Given the description of an element on the screen output the (x, y) to click on. 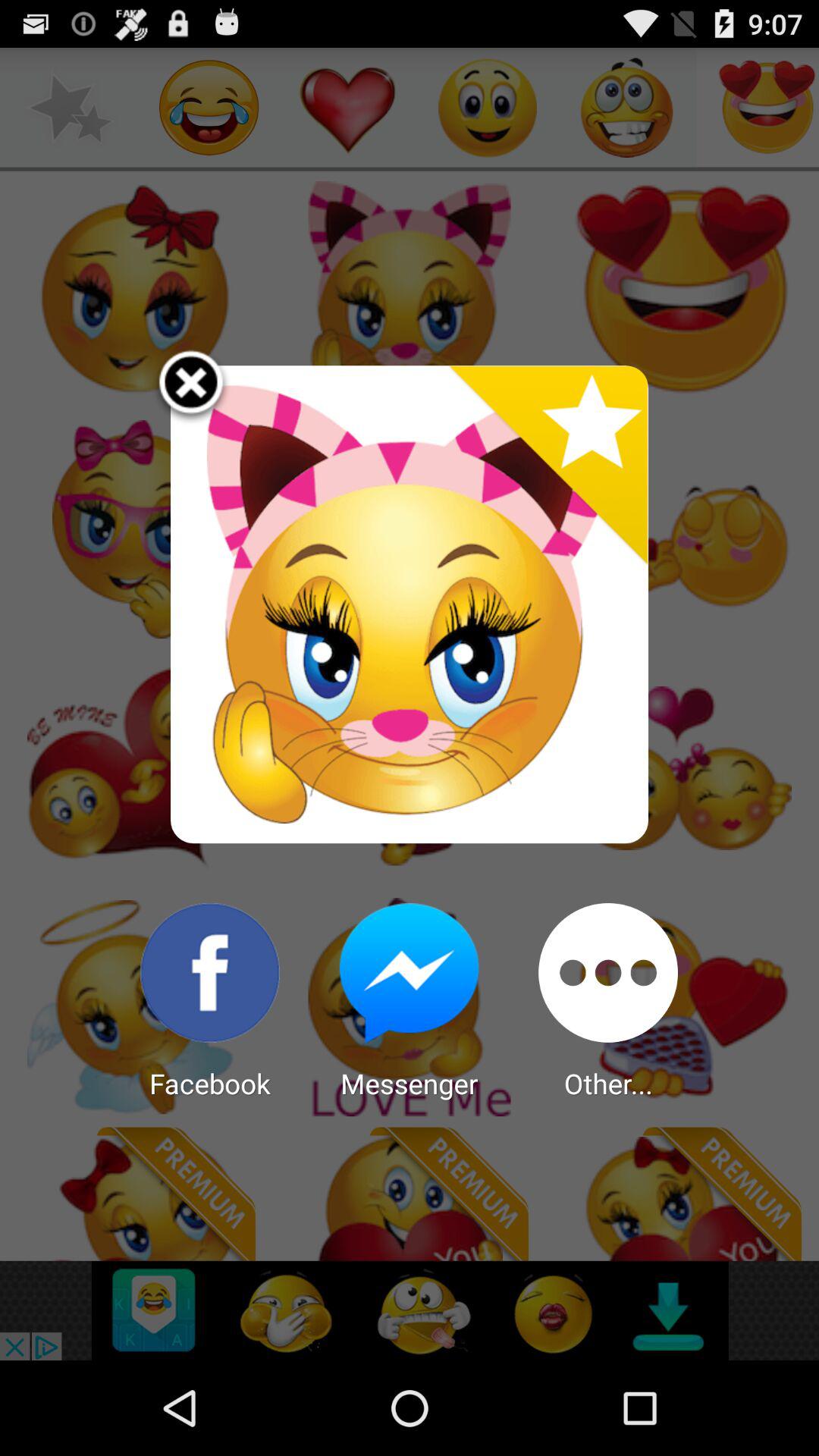
select the item at the top left corner (200, 395)
